Given the description of an element on the screen output the (x, y) to click on. 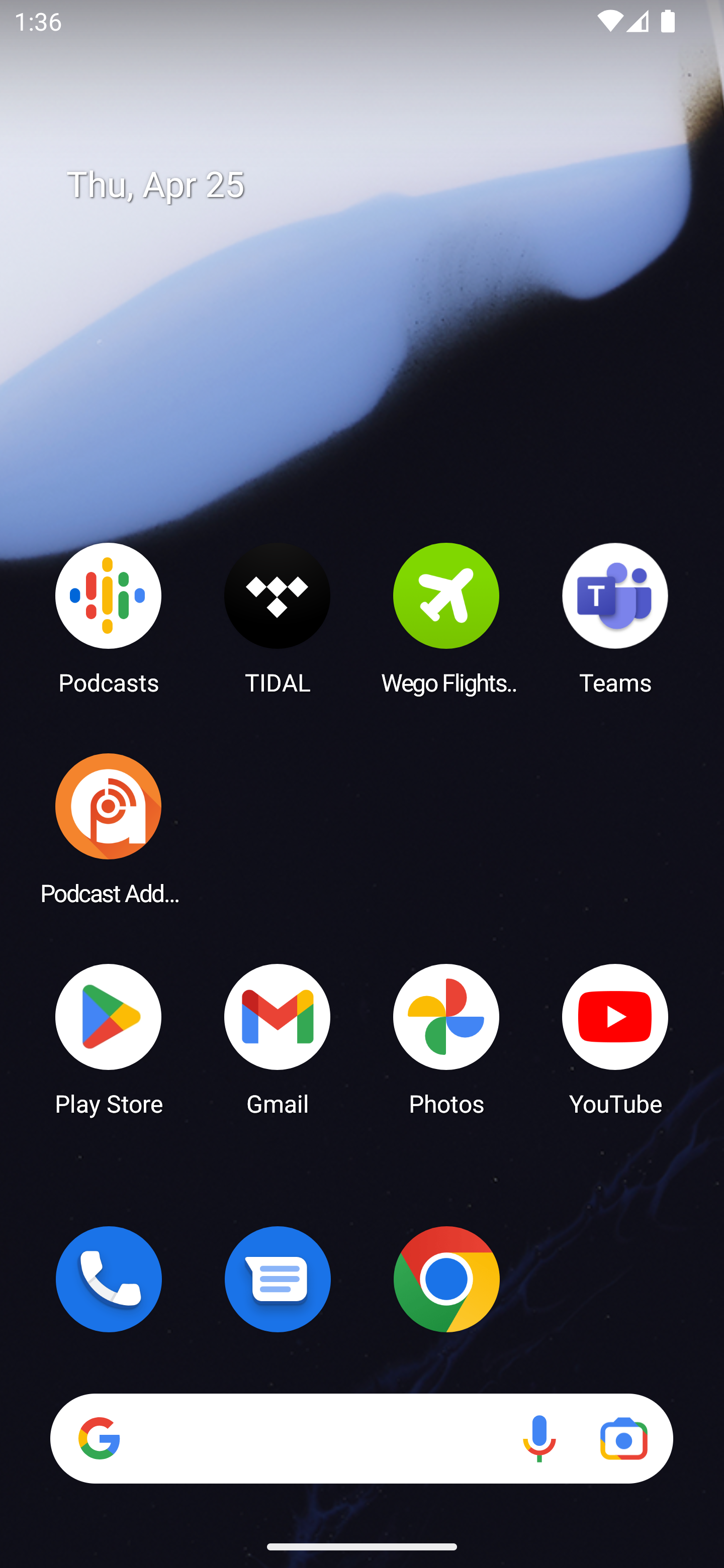
Thu, Apr 25 (375, 184)
Podcasts (108, 617)
TIDAL (277, 617)
Wego Flights & Hotels (445, 617)
Teams (615, 617)
Podcast Addict (108, 828)
Play Store (108, 1038)
Gmail (277, 1038)
Photos (445, 1038)
YouTube (615, 1038)
Phone (108, 1279)
Messages (277, 1279)
Chrome (446, 1279)
Search Voice search Google Lens (361, 1438)
Voice search (539, 1438)
Google Lens (623, 1438)
